Given the description of an element on the screen output the (x, y) to click on. 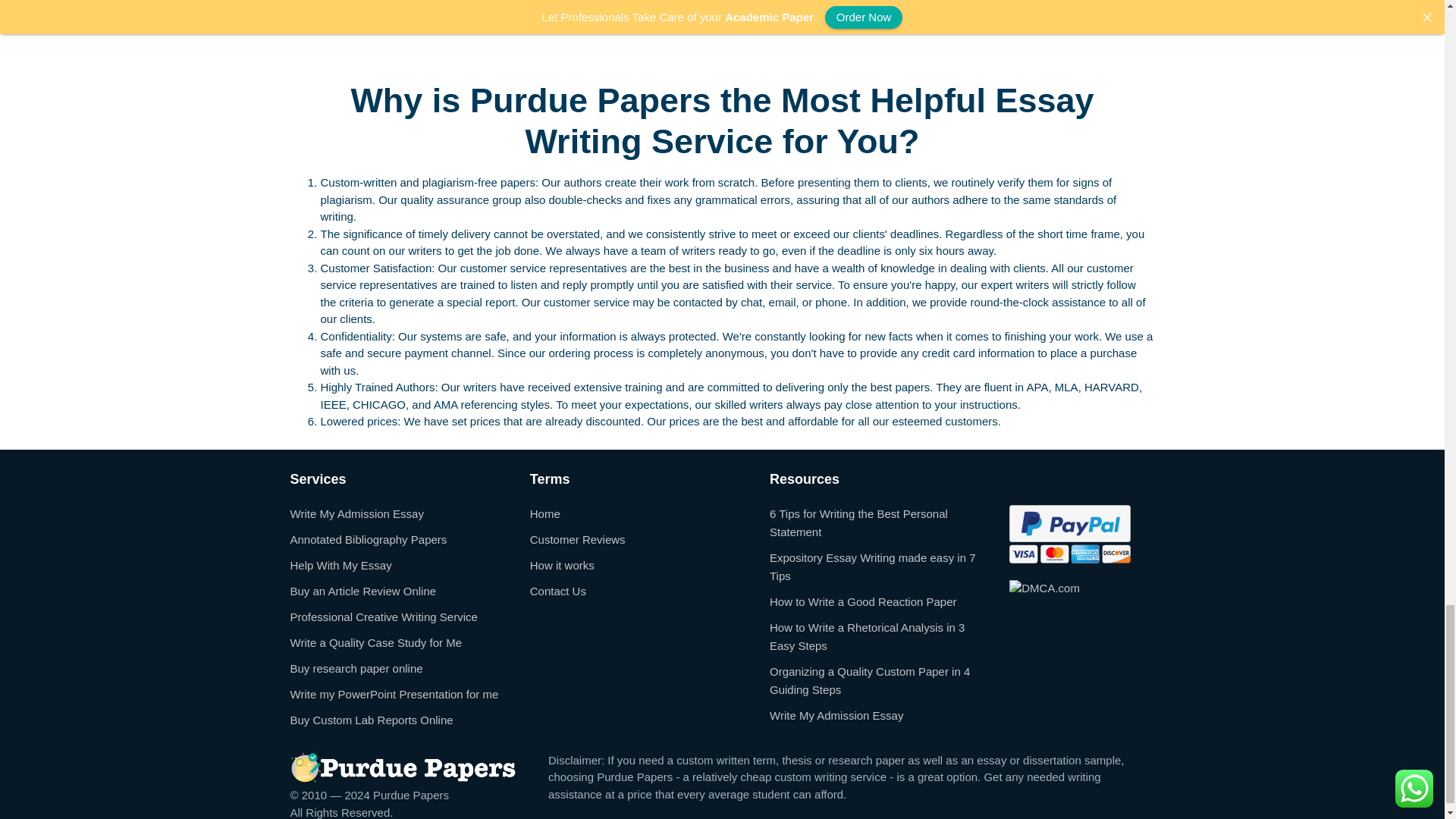
Write My Admission Essay (356, 512)
Annotated Bibliography Papers (367, 538)
Help With My Essay (340, 563)
Read more (629, 26)
Read more (329, 26)
DMCA (1044, 586)
